Given the description of an element on the screen output the (x, y) to click on. 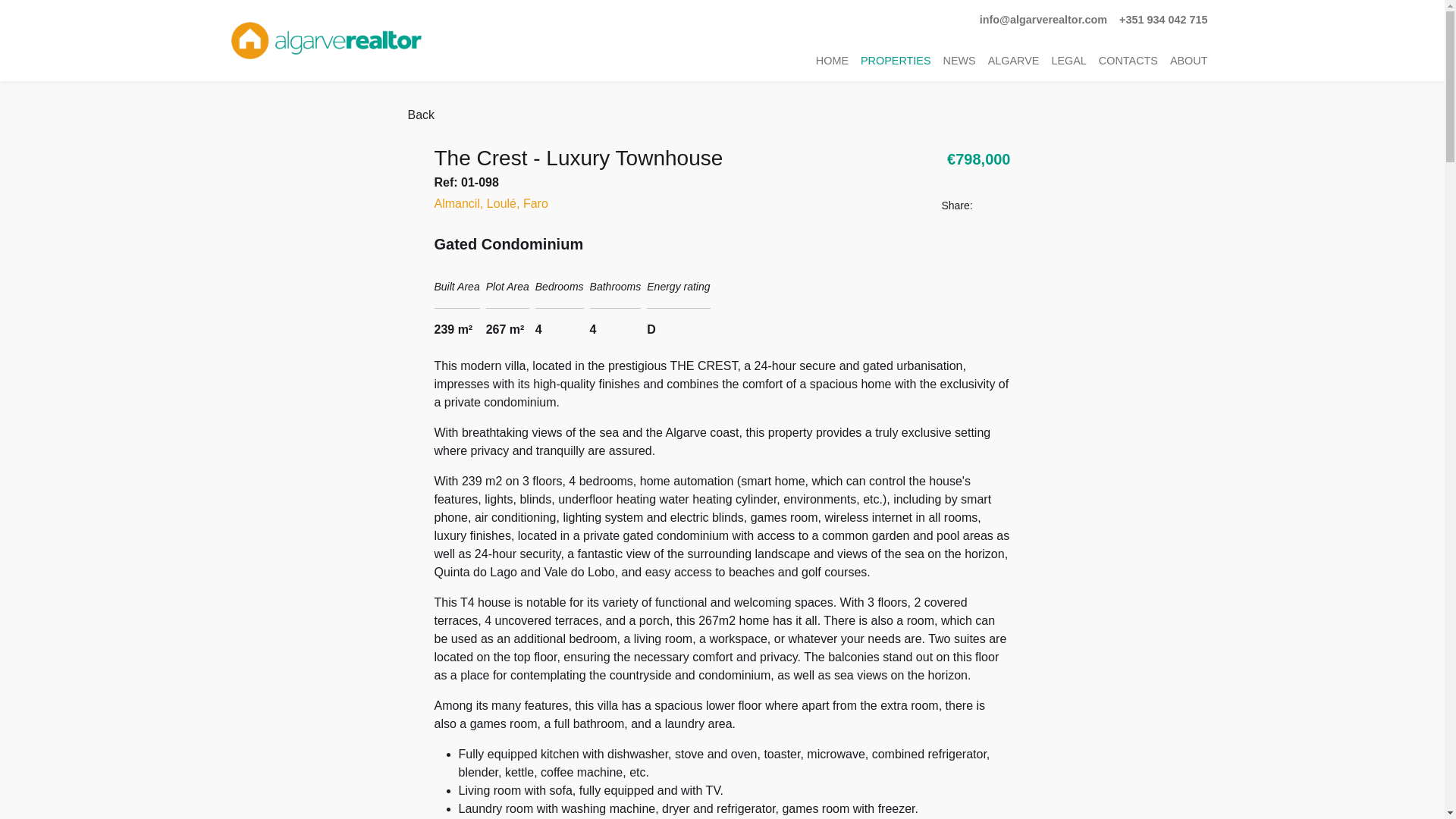
NEWS (959, 61)
HOME (831, 61)
PROPERTIES (895, 61)
ALGARVE (1013, 61)
ABOUT (1188, 61)
CONTACTS (1128, 61)
Back (420, 114)
LEGAL (1068, 61)
